Given the description of an element on the screen output the (x, y) to click on. 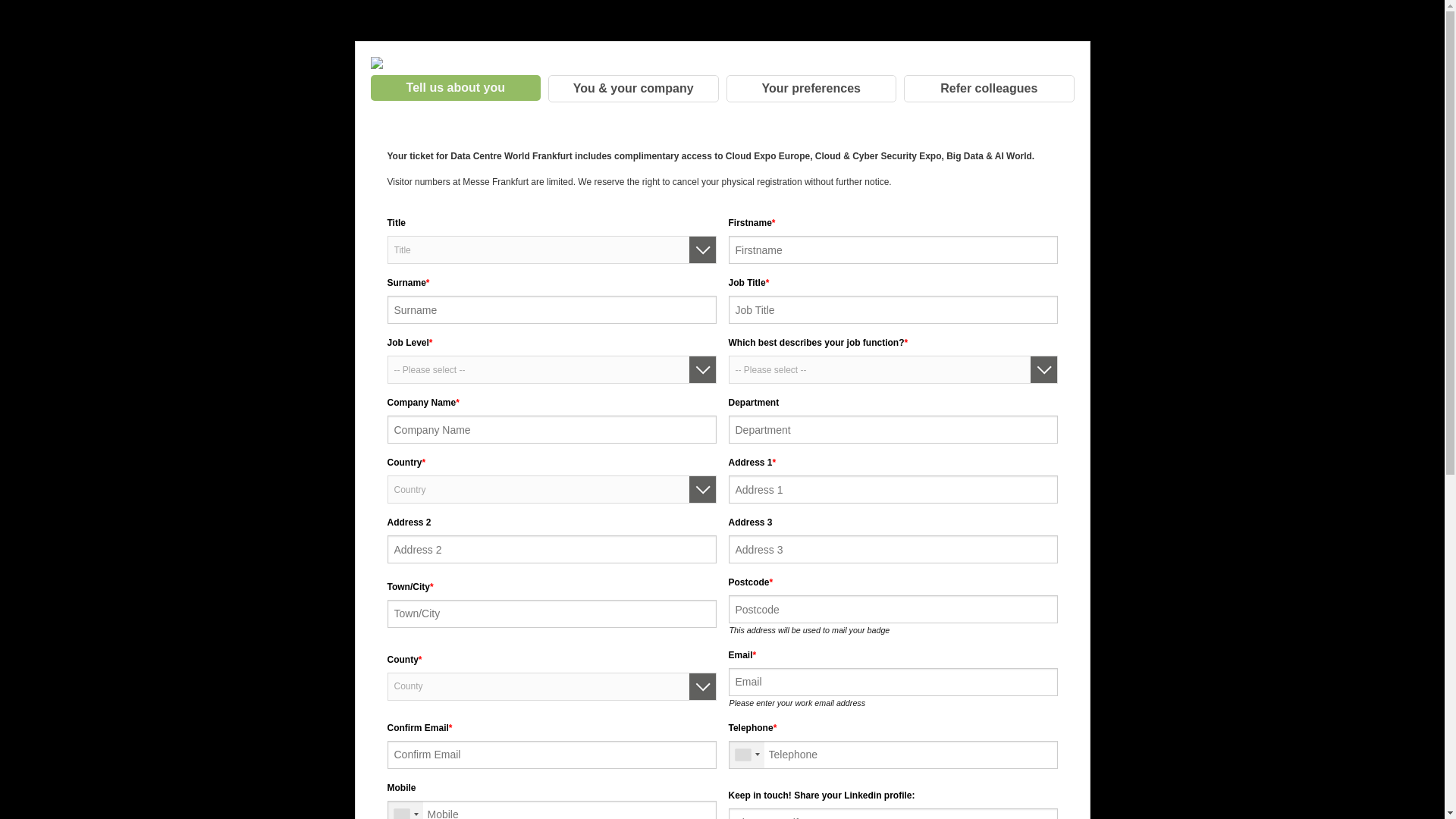
Refer colleagues (989, 88)
Your preferences (811, 88)
Tell us about you (454, 87)
